Given the description of an element on the screen output the (x, y) to click on. 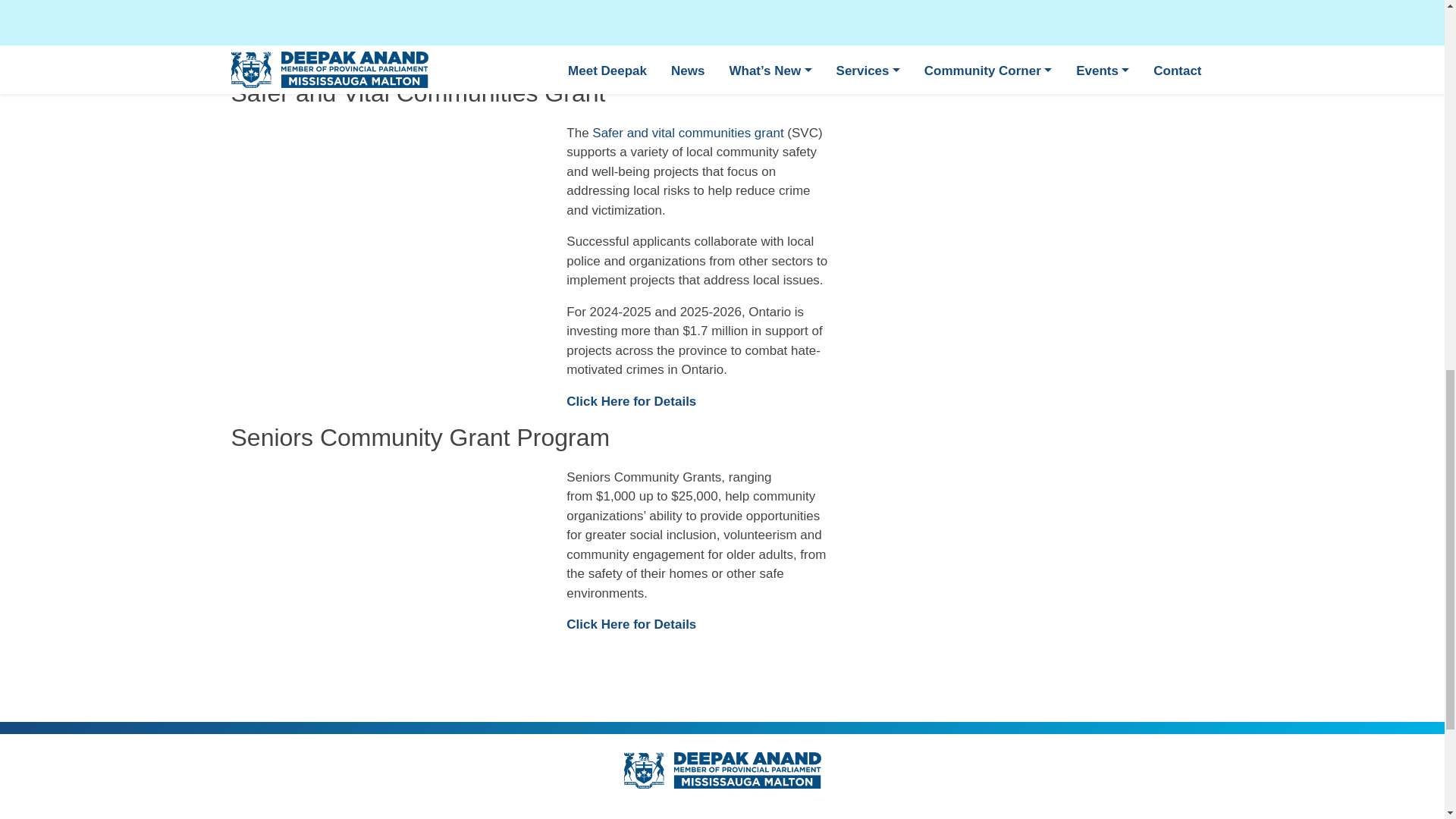
Click Here for Details (630, 400)
Click Here for Details (630, 624)
Safer and vital communities grant (687, 133)
News (525, 816)
Meet Deepak (444, 816)
